Given the description of an element on the screen output the (x, y) to click on. 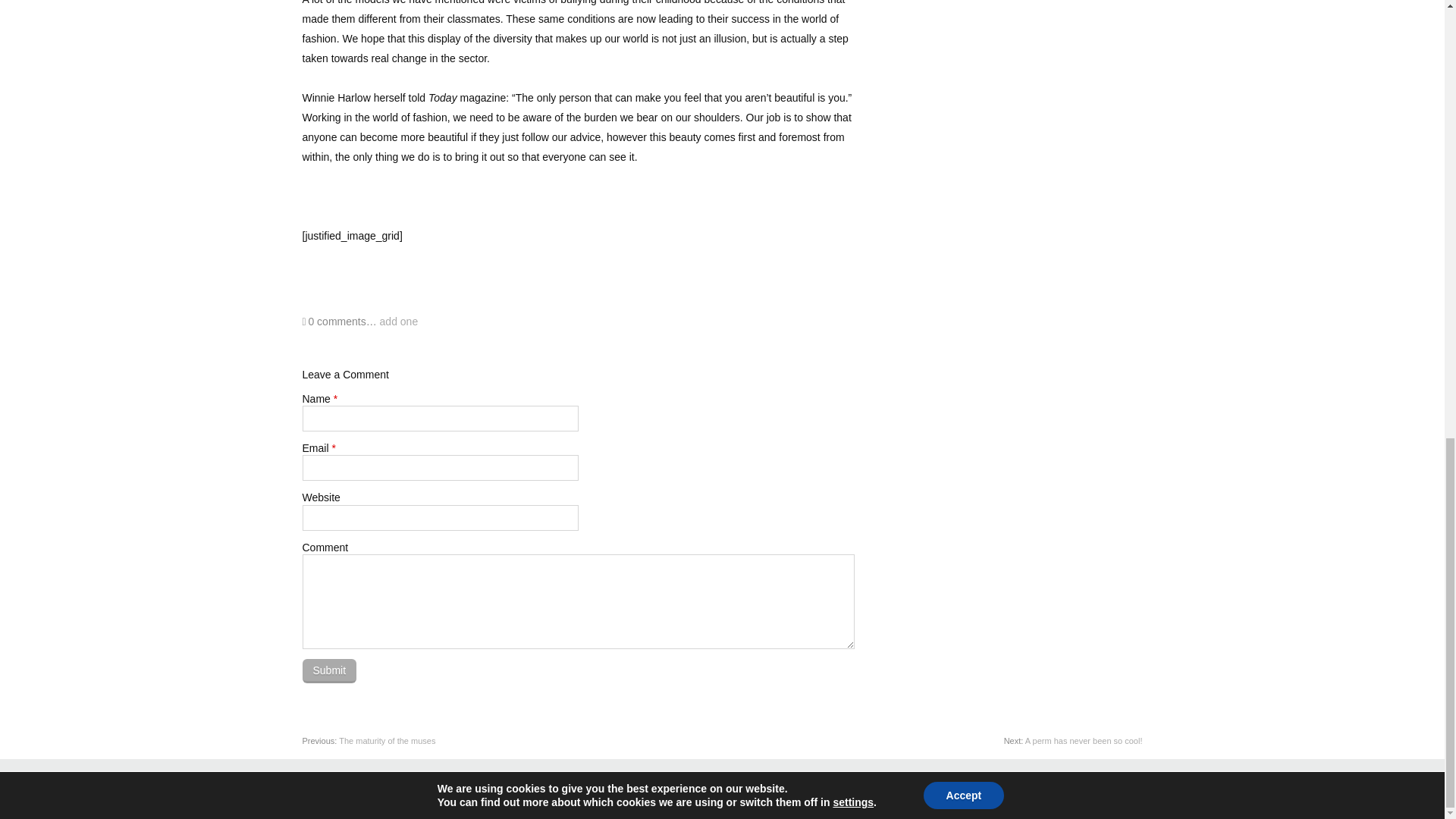
A perm has never been so cool! (1083, 740)
Submit (328, 671)
Submit (328, 671)
add one (399, 321)
The maturity of the muses (387, 740)
